Given the description of an element on the screen output the (x, y) to click on. 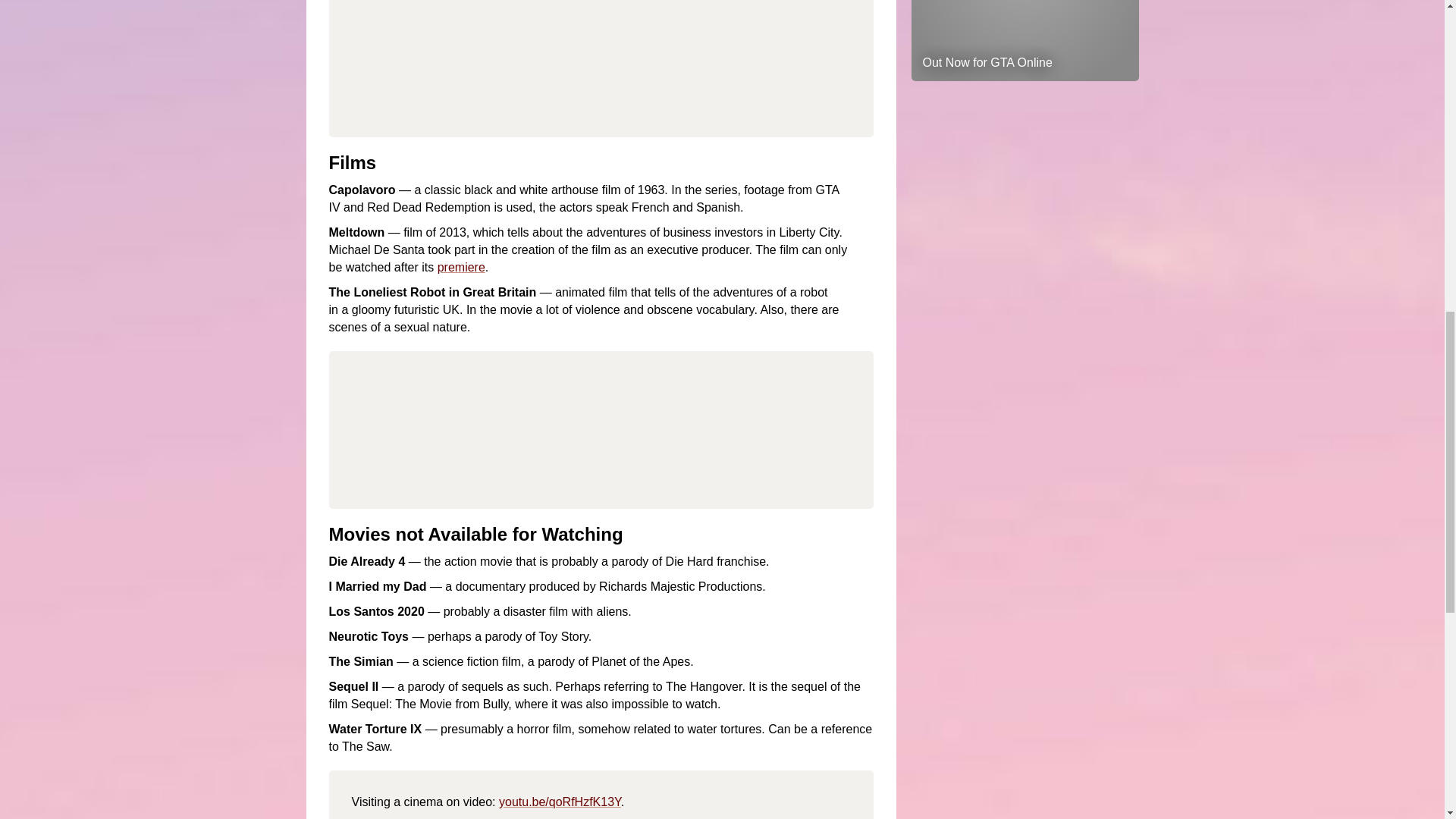
premiere (461, 267)
